Given the description of an element on the screen output the (x, y) to click on. 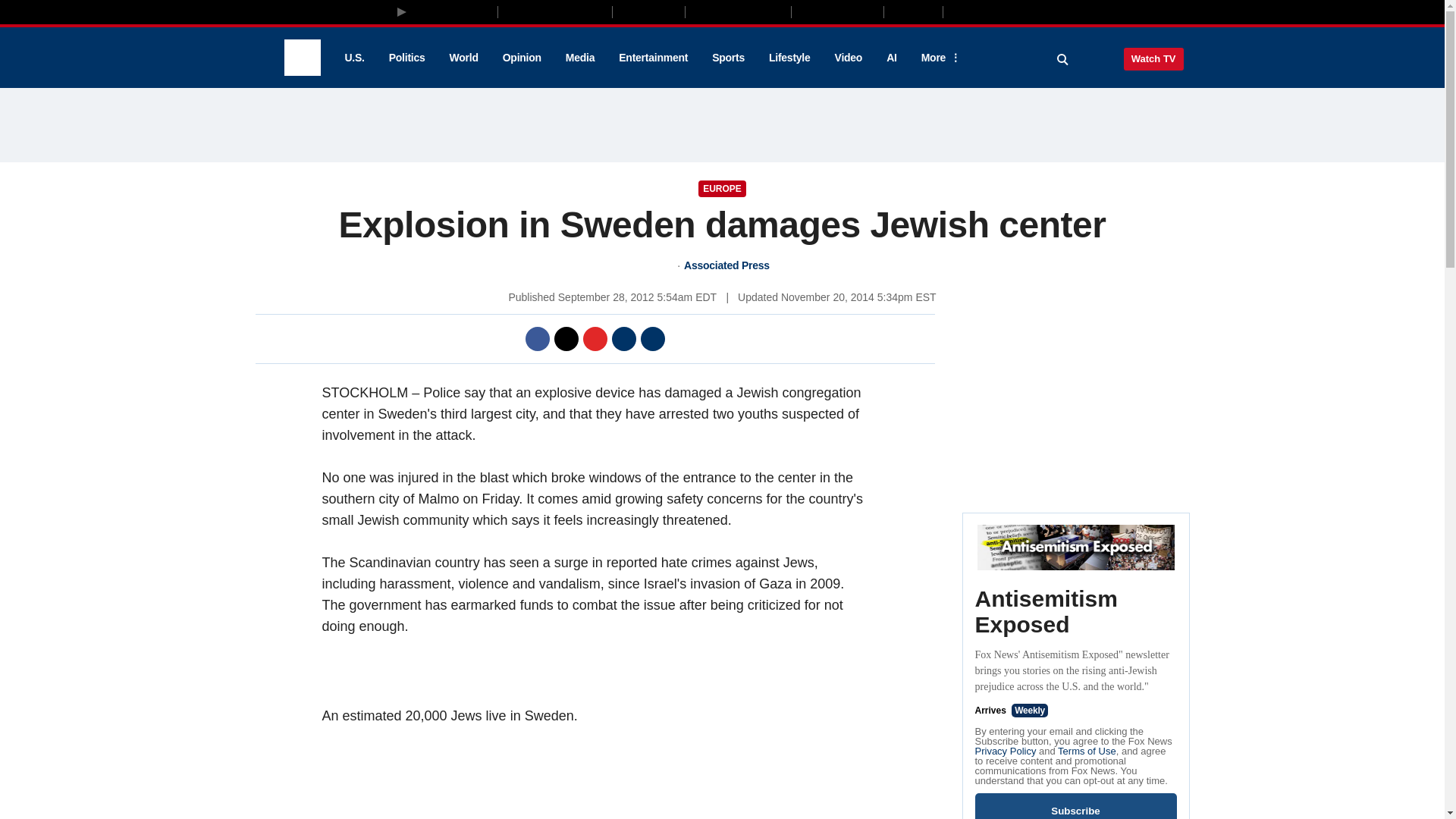
Fox News Audio (737, 11)
U.S. (353, 57)
Fox News (301, 57)
Outkick (912, 11)
Sports (728, 57)
Opinion (521, 57)
Politics (407, 57)
Entertainment (653, 57)
Watch TV (1153, 58)
World (464, 57)
